Given the description of an element on the screen output the (x, y) to click on. 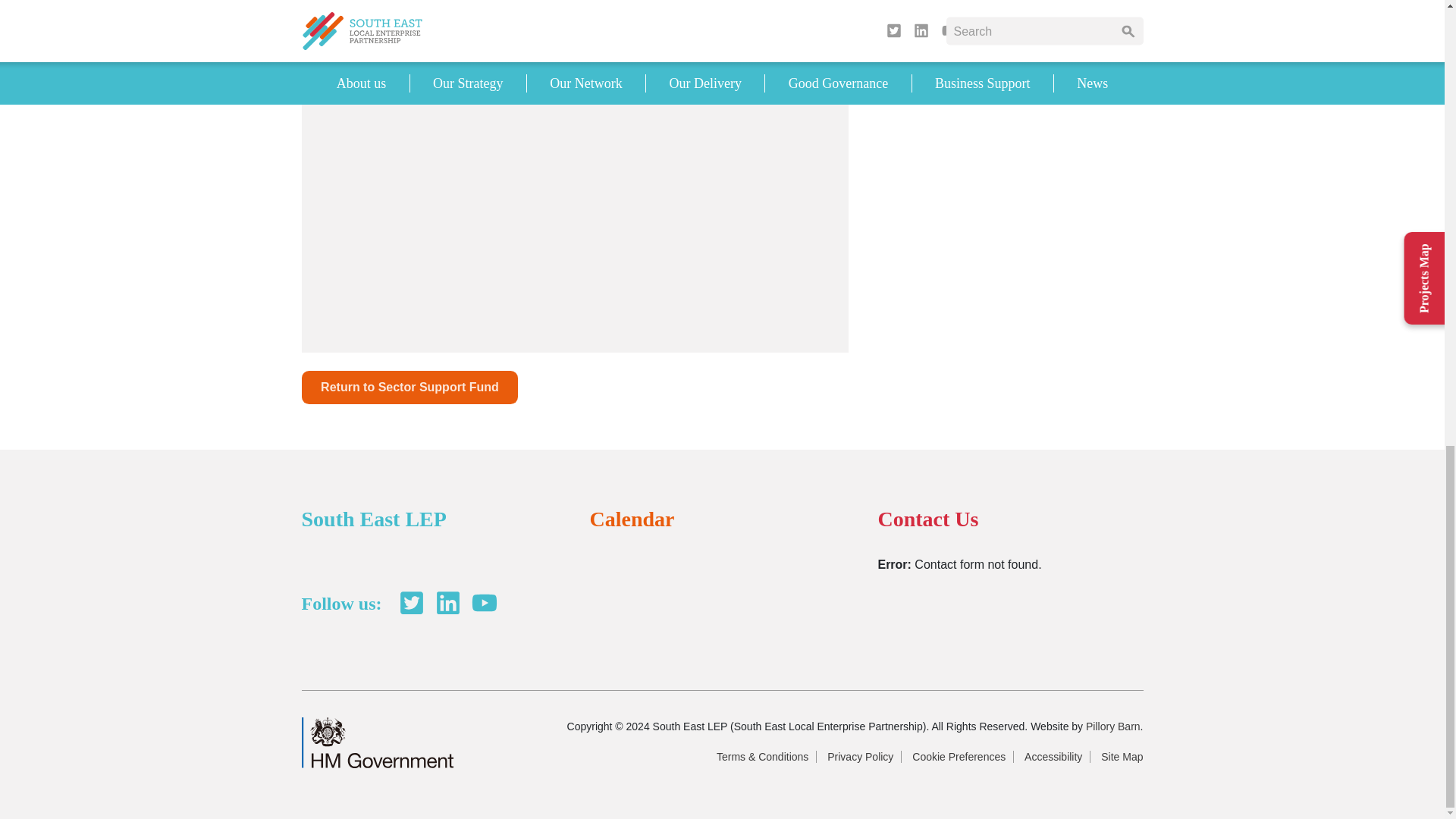
Social media link to Twitter (411, 602)
Social media link to Linkedin (447, 602)
Return to projects (409, 387)
Social media link to youtube (483, 602)
